Given the description of an element on the screen output the (x, y) to click on. 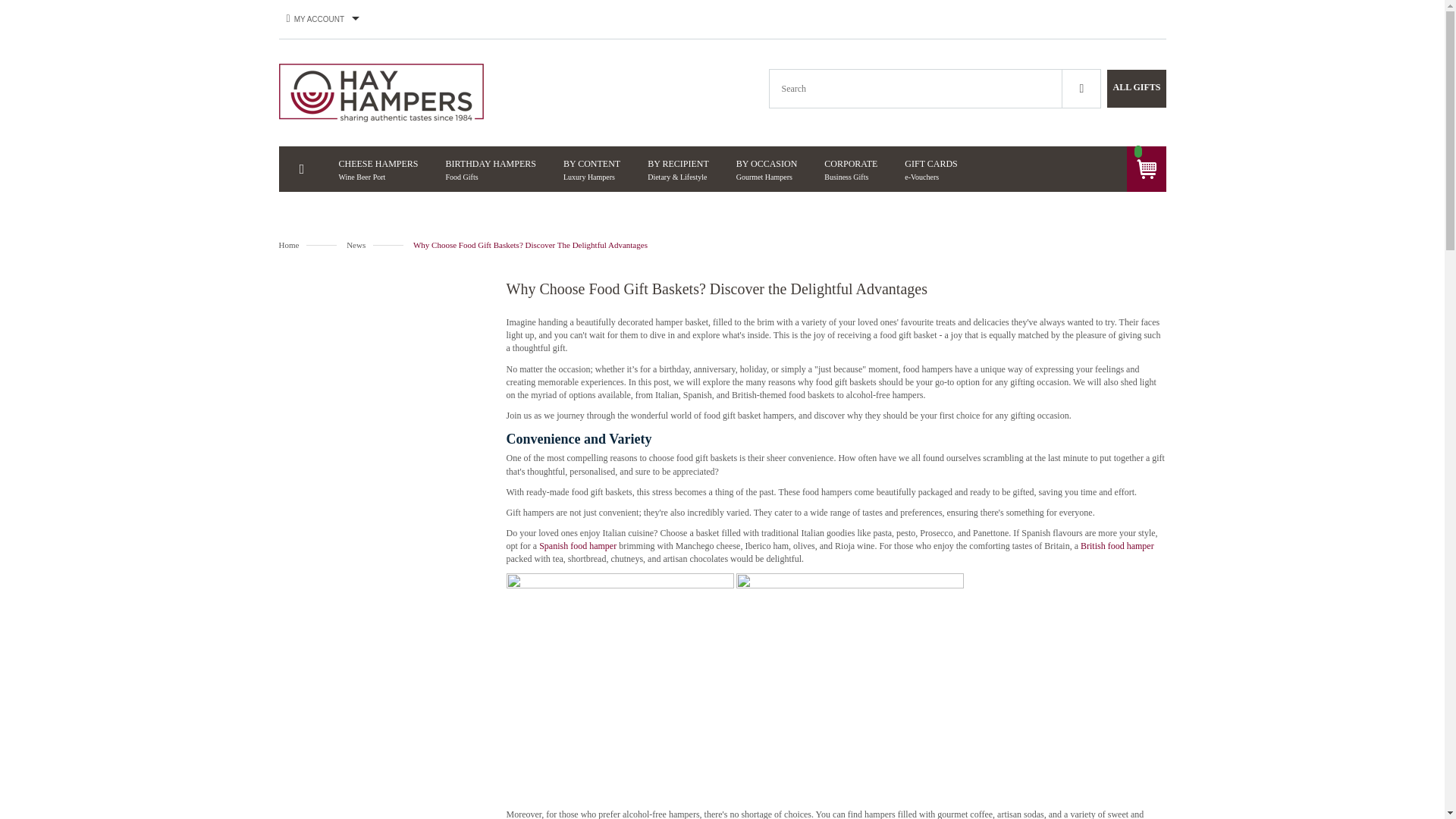
HOME (301, 169)
Search (1080, 88)
ALL GIFTS (1136, 86)
Hay Hampers (381, 92)
Reviews Badge Modern Widget (591, 168)
Go to Home Page (365, 336)
